Given the description of an element on the screen output the (x, y) to click on. 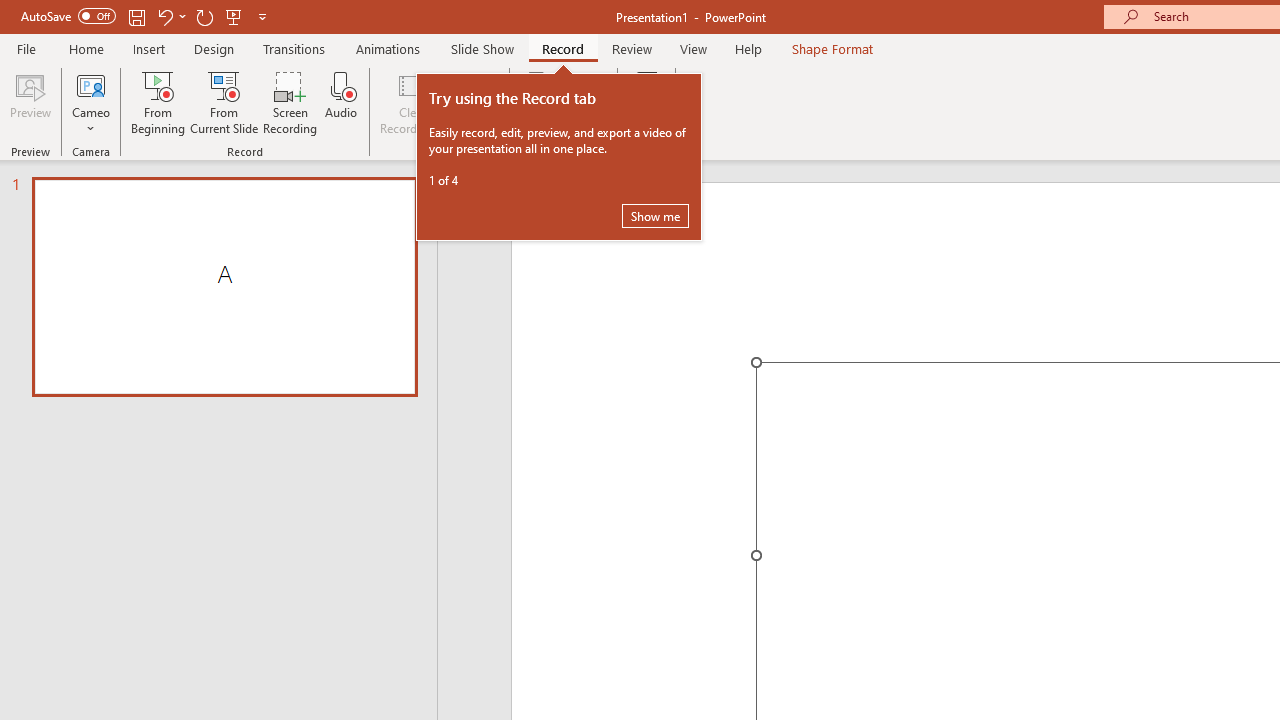
Reset to Cameo (474, 102)
Save as Show (539, 102)
From Current Slide... (224, 102)
Audio (341, 102)
